Given the description of an element on the screen output the (x, y) to click on. 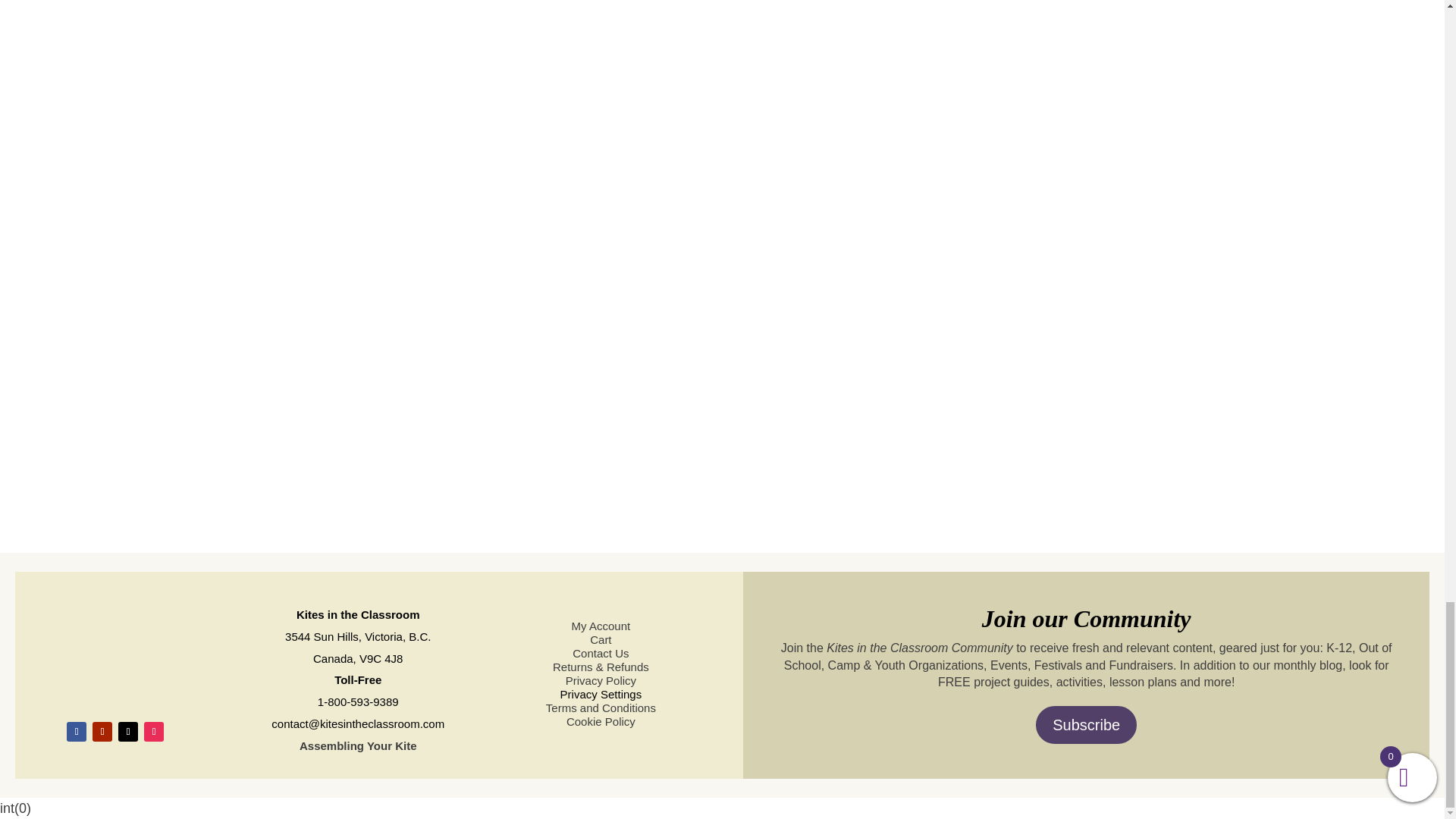
Follow on Instagram (153, 731)
Follow on X (127, 731)
Follow on Youtube (102, 731)
Follow on Facebook (75, 731)
